Given the description of an element on the screen output the (x, y) to click on. 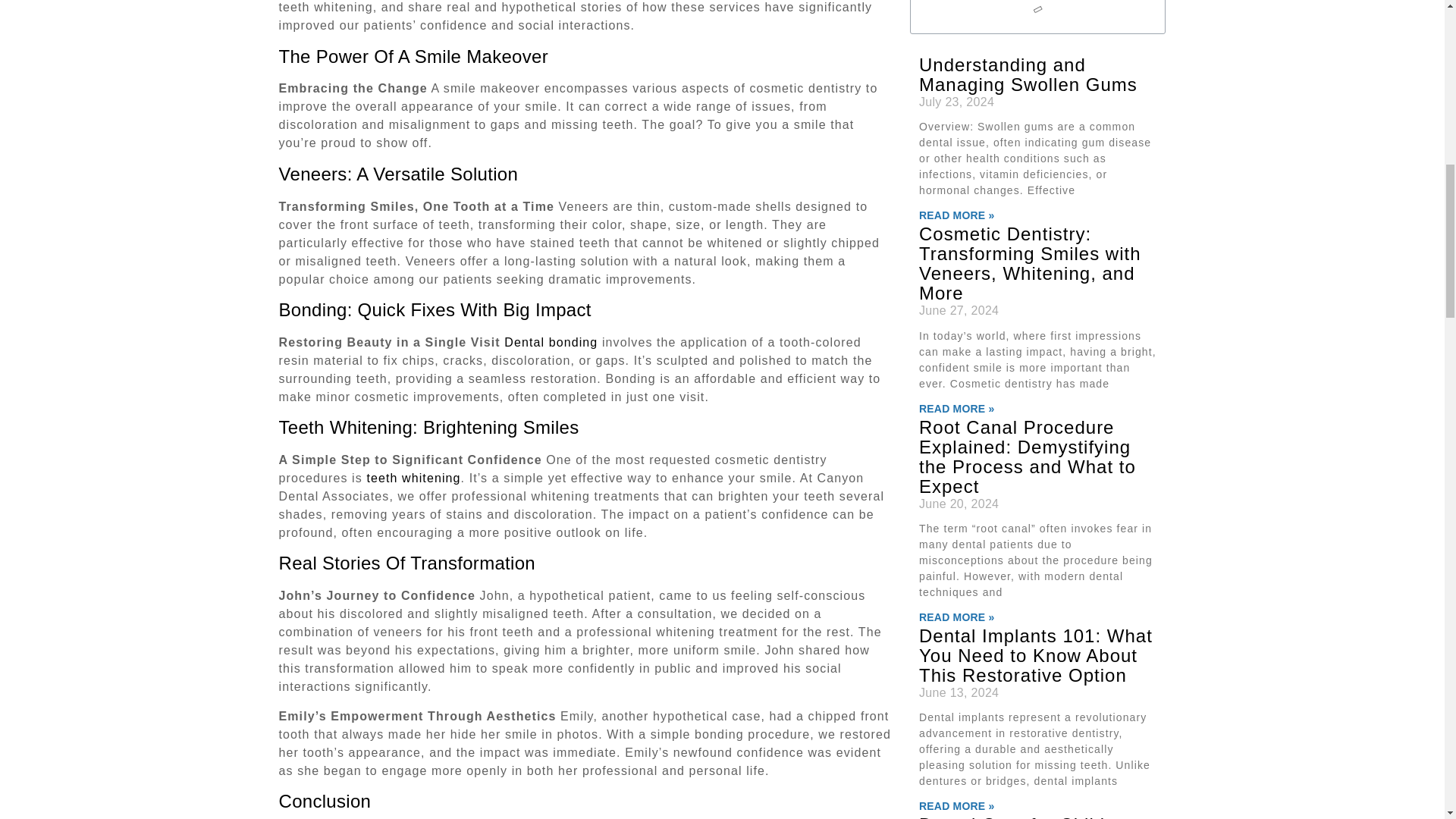
teeth whitening (413, 477)
Dental bonding (549, 341)
teeth whitening (413, 477)
Dental bonding (549, 341)
Dental Care for Children: Essential Tips for Parents (1031, 816)
Understanding and Managing Swollen Gums (1027, 74)
